Given the description of an element on the screen output the (x, y) to click on. 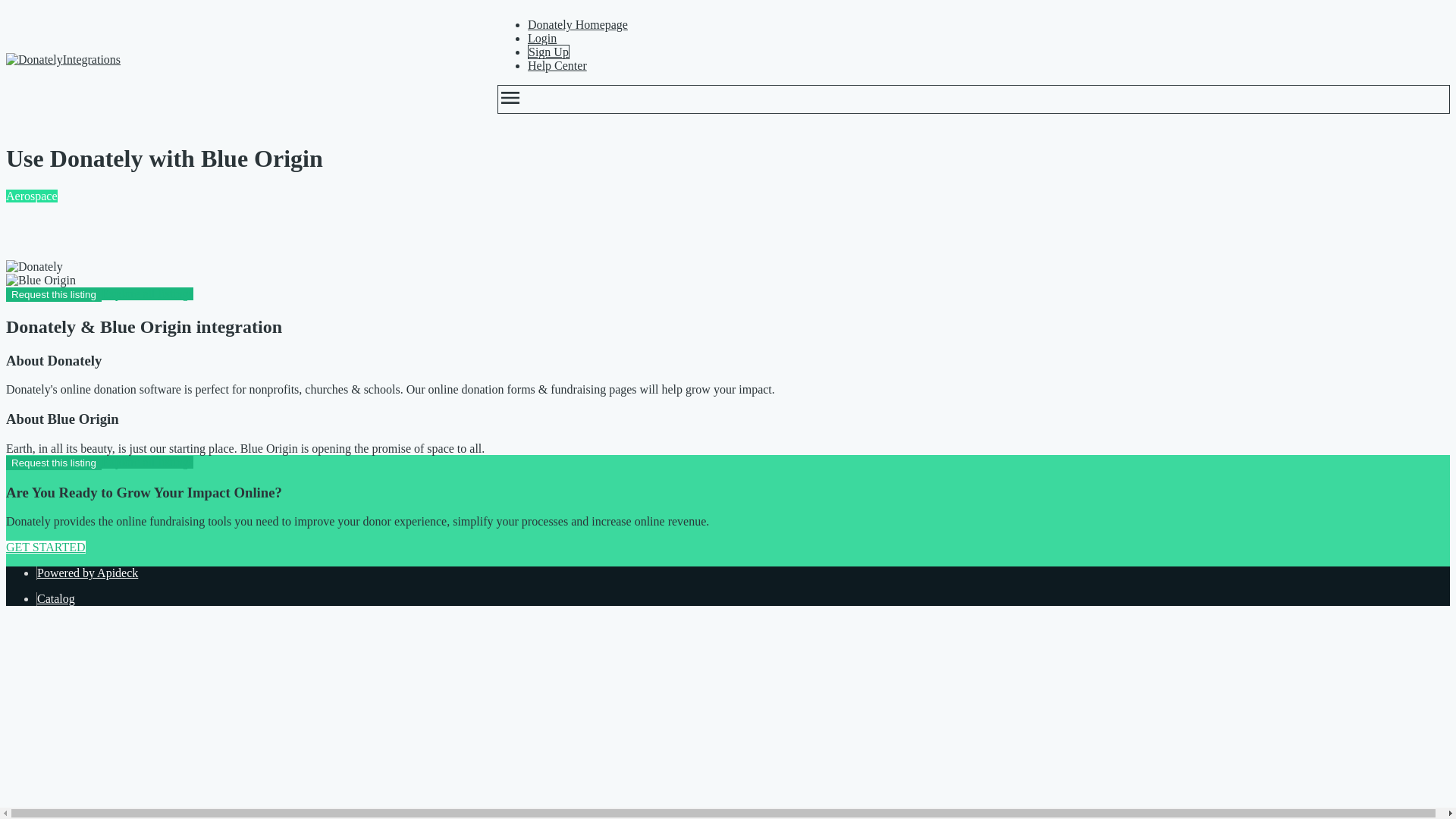
Help Center (556, 65)
Catalog (56, 598)
Integrations (236, 59)
Donately (33, 266)
Login (541, 38)
Explore all listings (147, 293)
Powered by Apideck (87, 572)
Request this listing (53, 462)
Request this listing (53, 294)
Sign Up (548, 51)
GET STARTED (45, 546)
Donately (33, 59)
Explore all listings (147, 461)
Donately Homepage (577, 24)
Blue Origin (40, 280)
